Given the description of an element on the screen output the (x, y) to click on. 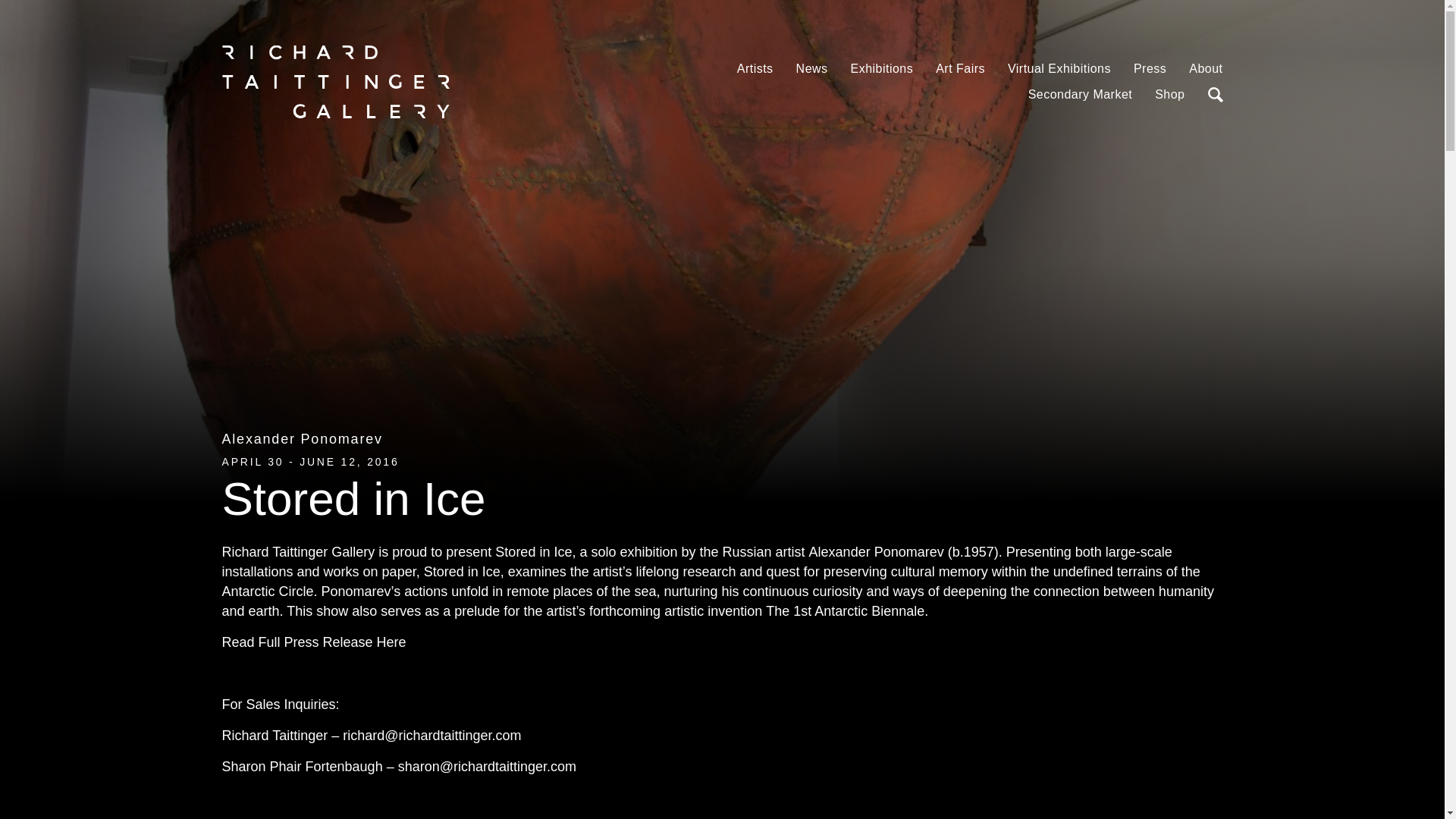
Search (1215, 94)
Read Full Press Release Here (313, 642)
Art Fairs (960, 68)
Virtual Exhibitions (1058, 68)
Press (1150, 68)
News (812, 68)
Alexander Ponomarev (301, 438)
Secondary Market (1079, 94)
Shop (1169, 94)
Artists (754, 68)
About (1206, 68)
Alexander Ponomarev (301, 438)
Exhibitions (882, 68)
